Given the description of an element on the screen output the (x, y) to click on. 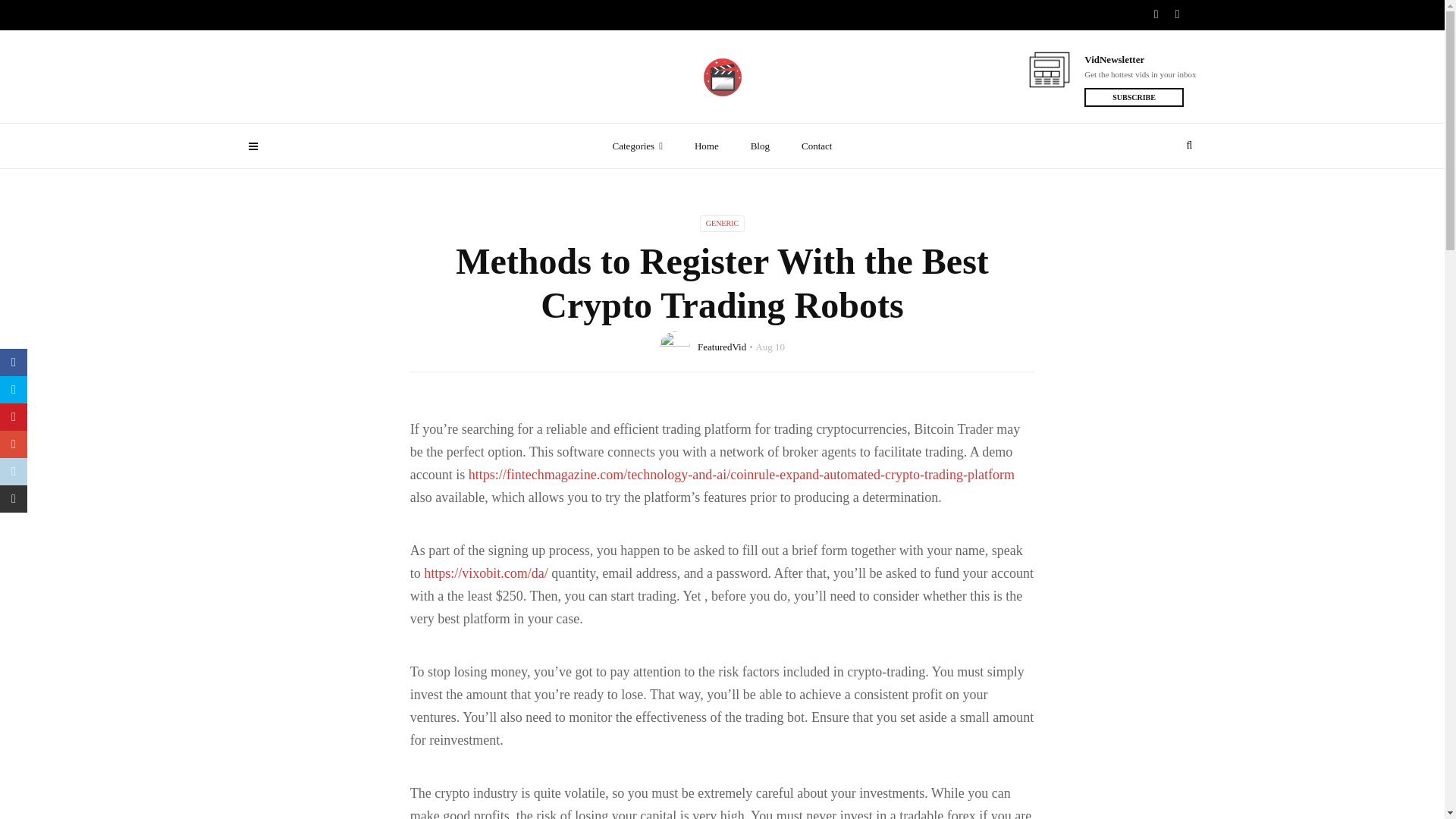
Categories (637, 145)
Home (706, 145)
GENERIC (722, 223)
VidNewsletter (1139, 59)
FeaturedVid (721, 346)
Contact (816, 145)
SUBSCRIBE (1133, 97)
Blog (760, 145)
